Given the description of an element on the screen output the (x, y) to click on. 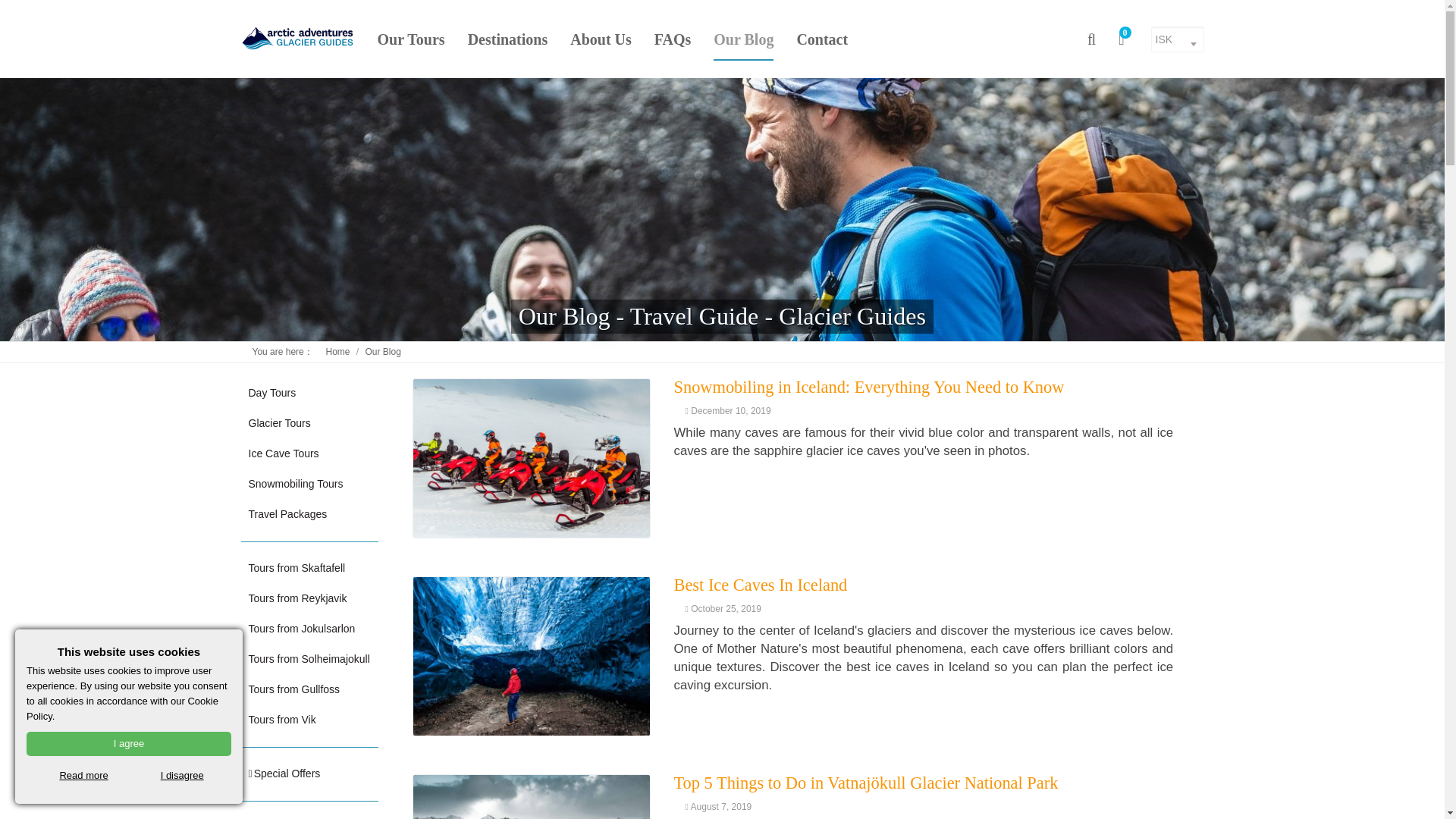
Snowmobiling in Iceland: Everything You Need to Know (531, 458)
About Us (600, 39)
Glacier Guides (298, 38)
Snowmobiling in Iceland: Everything You Need to Know (868, 386)
Our Blog (383, 351)
Best Ice Caves In Iceland (759, 584)
Contact (821, 39)
Home (336, 351)
Snowmobiling in Iceland: Everything You Need to Know (868, 386)
Our Blog (743, 39)
FAQs (672, 39)
Destinations (507, 39)
Our Tours (411, 39)
Best Ice Caves In Iceland (531, 656)
